Given the description of an element on the screen output the (x, y) to click on. 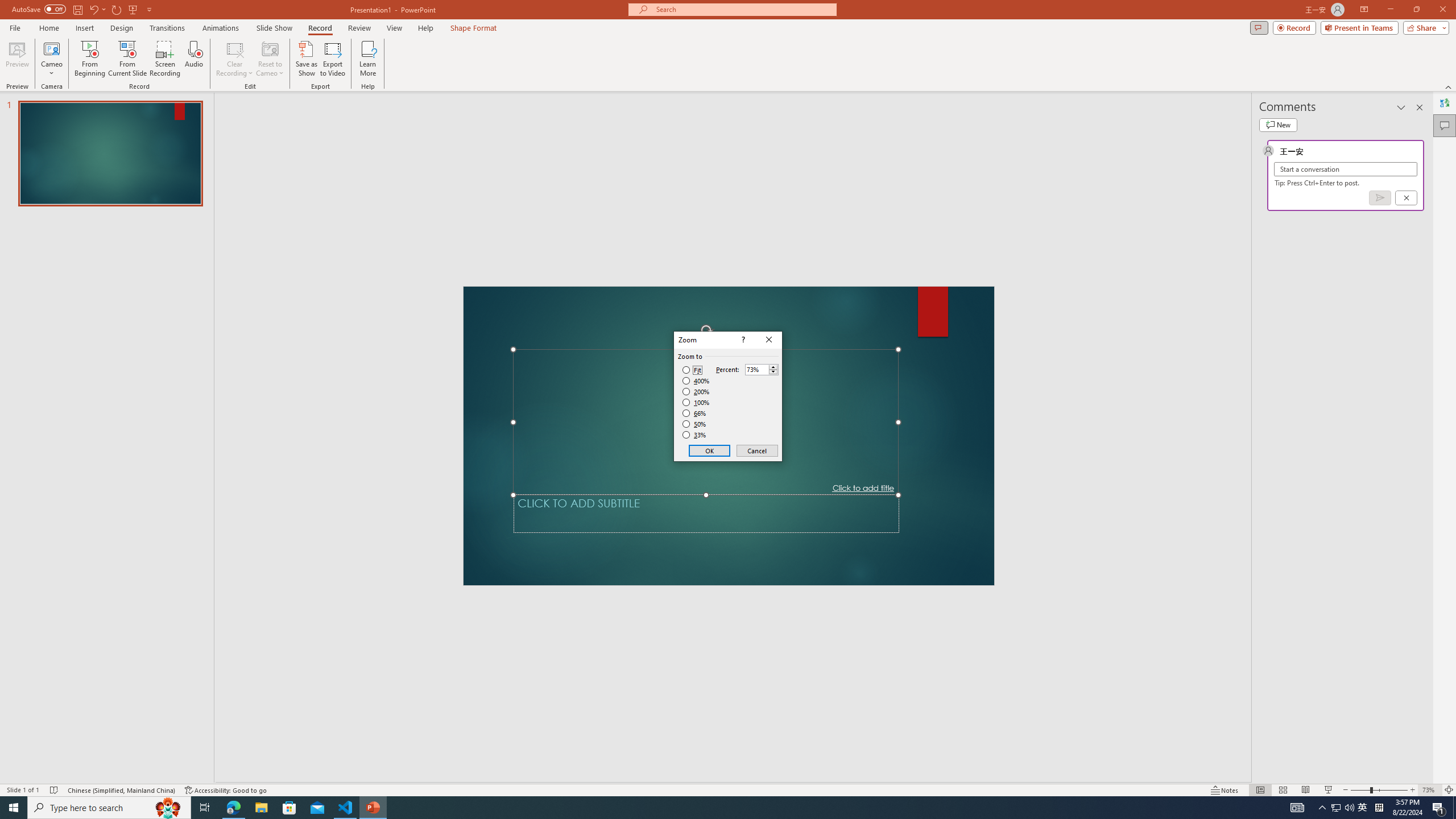
From Current Slide... (127, 58)
User Promoted Notification Area (1362, 807)
400% (1342, 807)
Show desktop (696, 380)
Audio (1454, 807)
Start (193, 58)
Microsoft Edge - 1 running window (13, 807)
50% (233, 807)
